Given the description of an element on the screen output the (x, y) to click on. 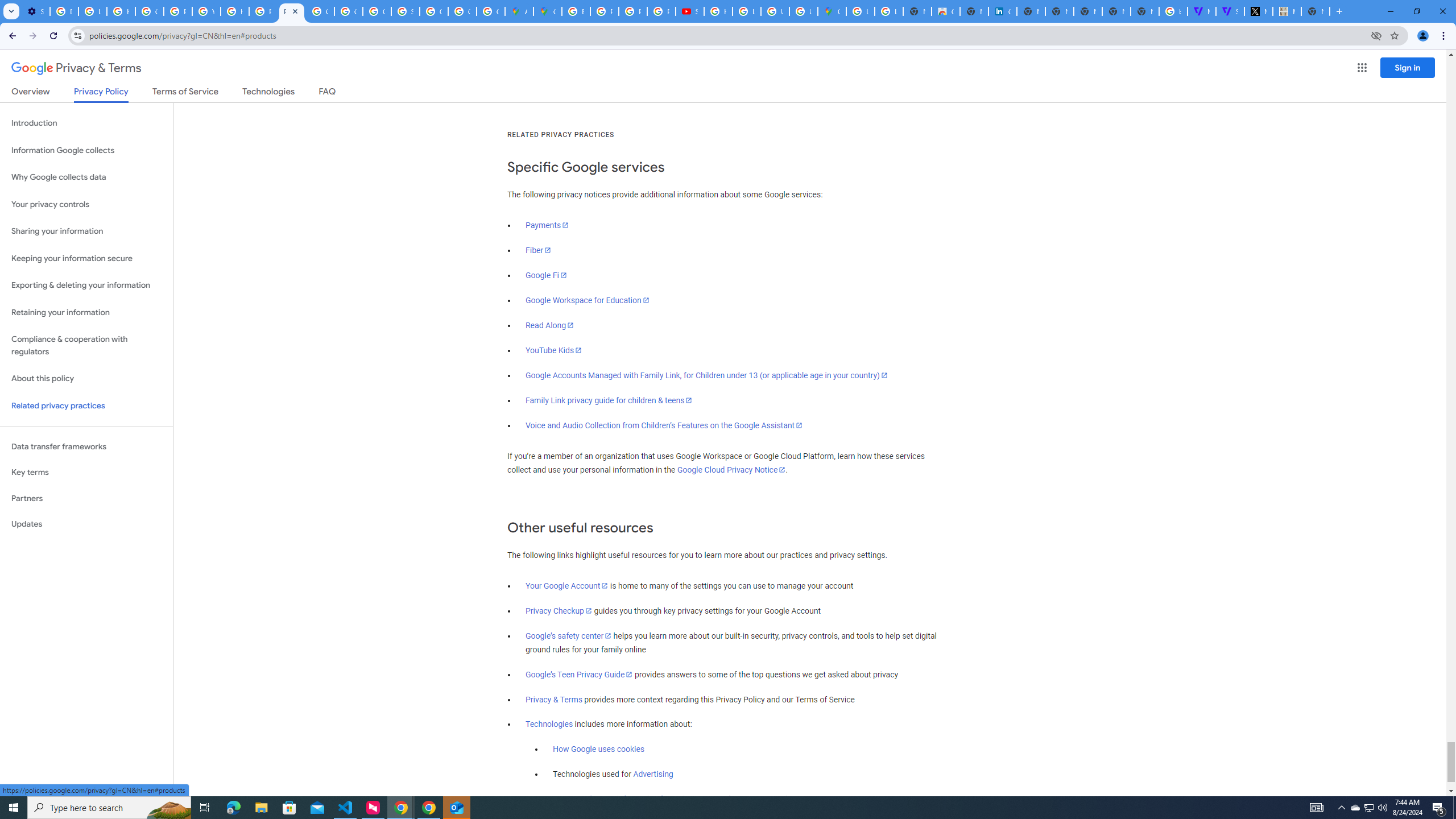
Fiber (538, 249)
Payments (547, 225)
Your Google Account (566, 585)
New Tab (1144, 11)
